Given the description of an element on the screen output the (x, y) to click on. 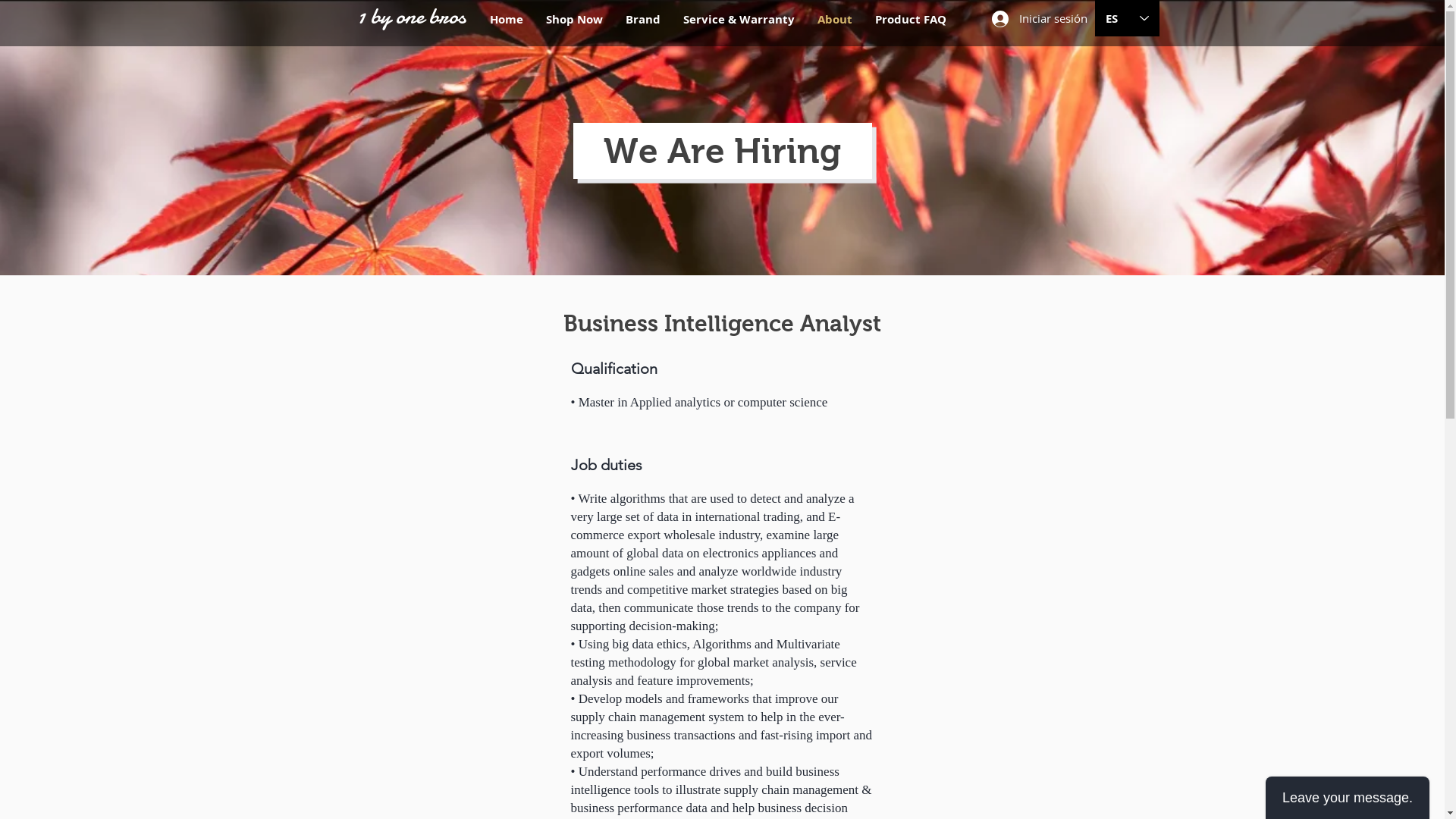
Product FAQ Element type: text (909, 19)
Home Element type: text (505, 19)
We Are Hiring Element type: text (721, 150)
Brand Element type: text (642, 19)
Service & Warranty Element type: text (738, 19)
1 by one bros Element type: text (411, 15)
Business Intelligence Analyst Element type: text (722, 322)
Shop Now Element type: text (573, 19)
About Element type: text (833, 19)
